Given the description of an element on the screen output the (x, y) to click on. 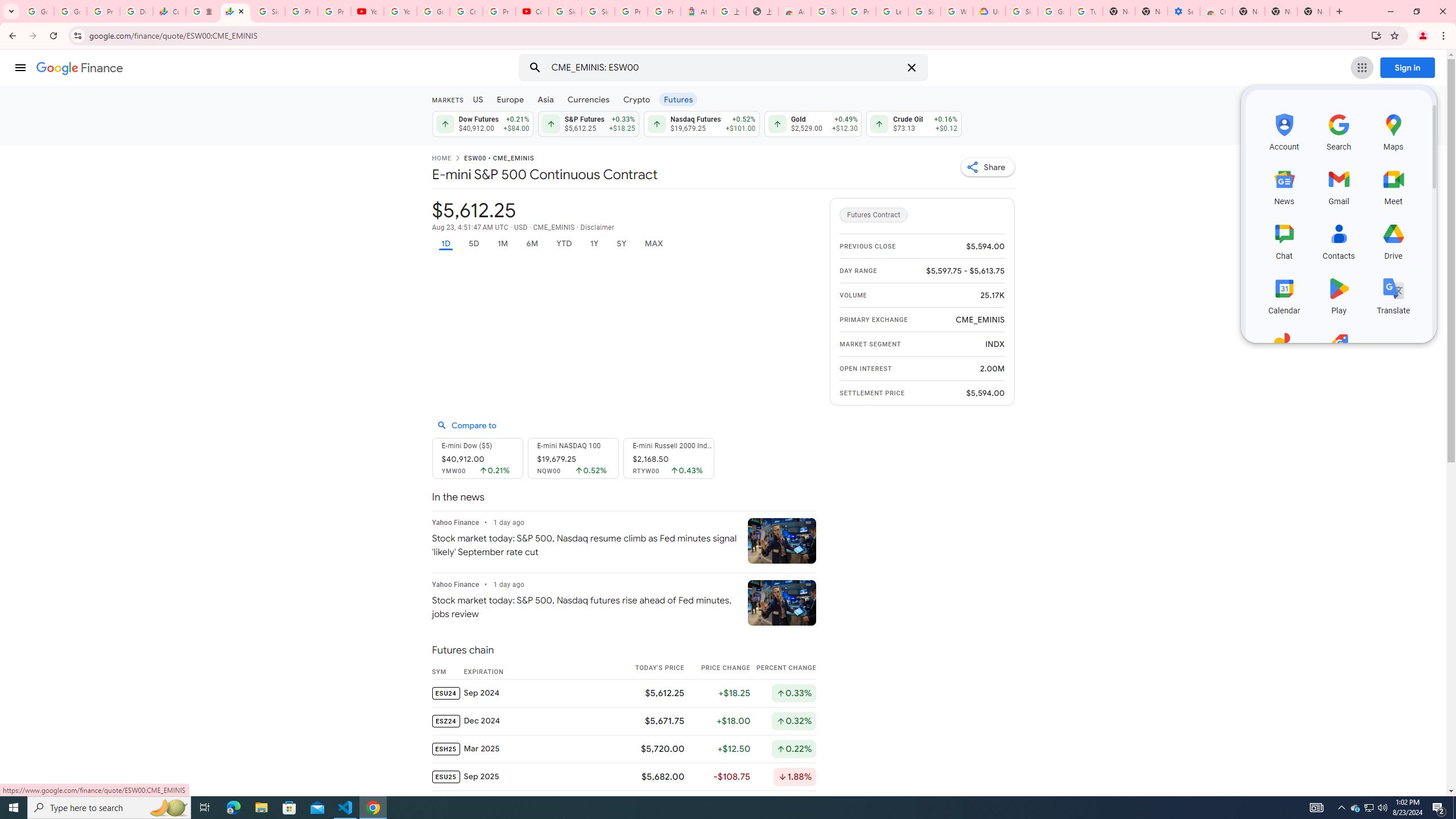
Sign in - Google Accounts (827, 11)
Search for stocks, ETFs & more (724, 67)
Dow Futures $40,912.00 Up by 0.21% +$84.00 (481, 123)
Crude Oil $73.13 Up by 0.16% +$0.12 (914, 123)
